Given the description of an element on the screen output the (x, y) to click on. 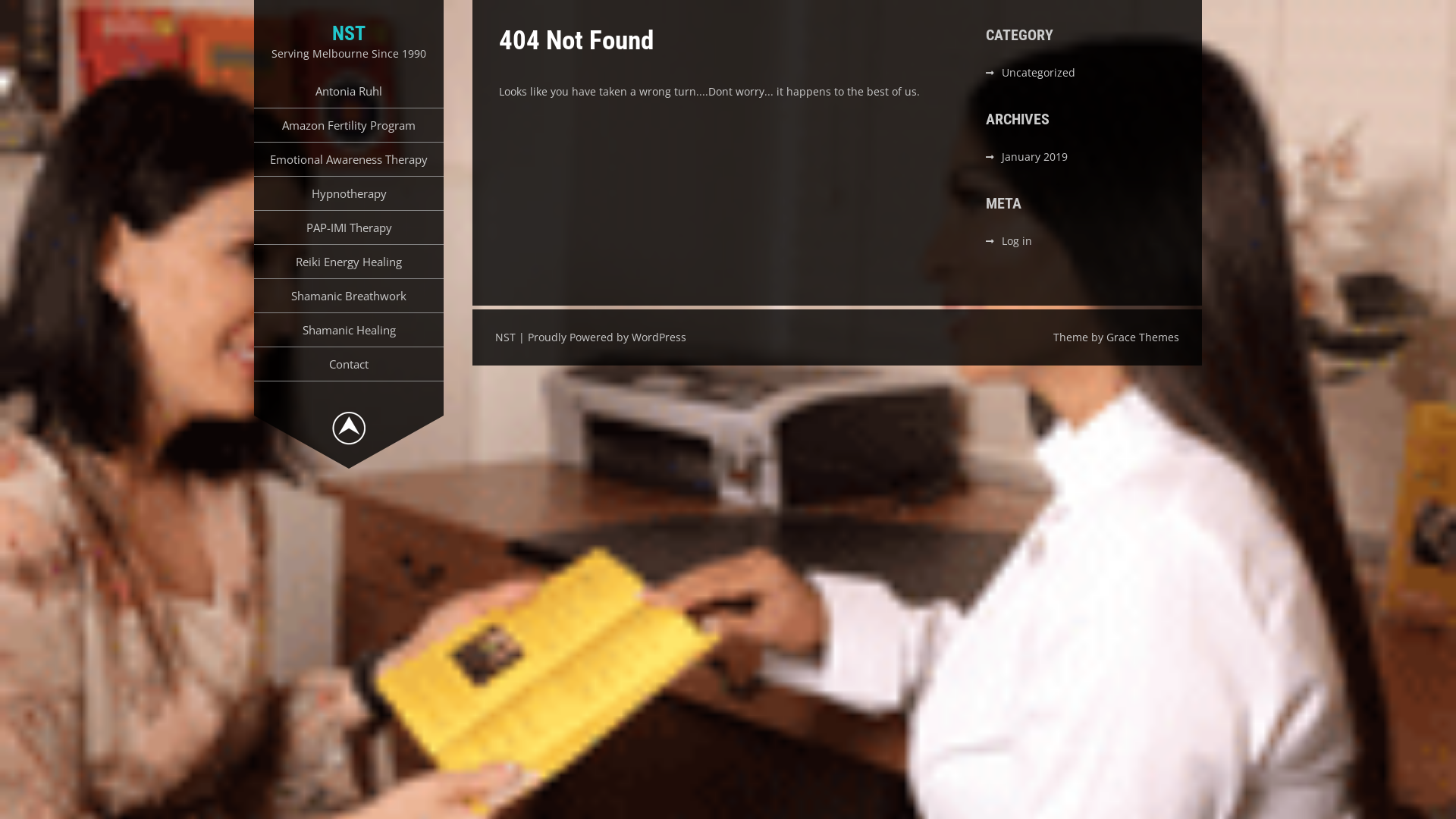
January 2019 Element type: text (1034, 156)
Shamanic Breathwork Element type: text (348, 295)
Emotional Awareness Therapy Element type: text (348, 158)
Log in Element type: text (1016, 240)
Reiki Energy Healing Element type: text (348, 261)
Shamanic Healing Element type: text (348, 329)
Amazon Fertility Program Element type: text (348, 124)
Hypnotherapy Element type: text (348, 193)
Uncategorized Element type: text (1038, 72)
PAP-IMI Therapy Element type: text (348, 227)
Contact Element type: text (348, 363)
NST Element type: text (348, 32)
Antonia Ruhl Element type: text (348, 90)
